Given the description of an element on the screen output the (x, y) to click on. 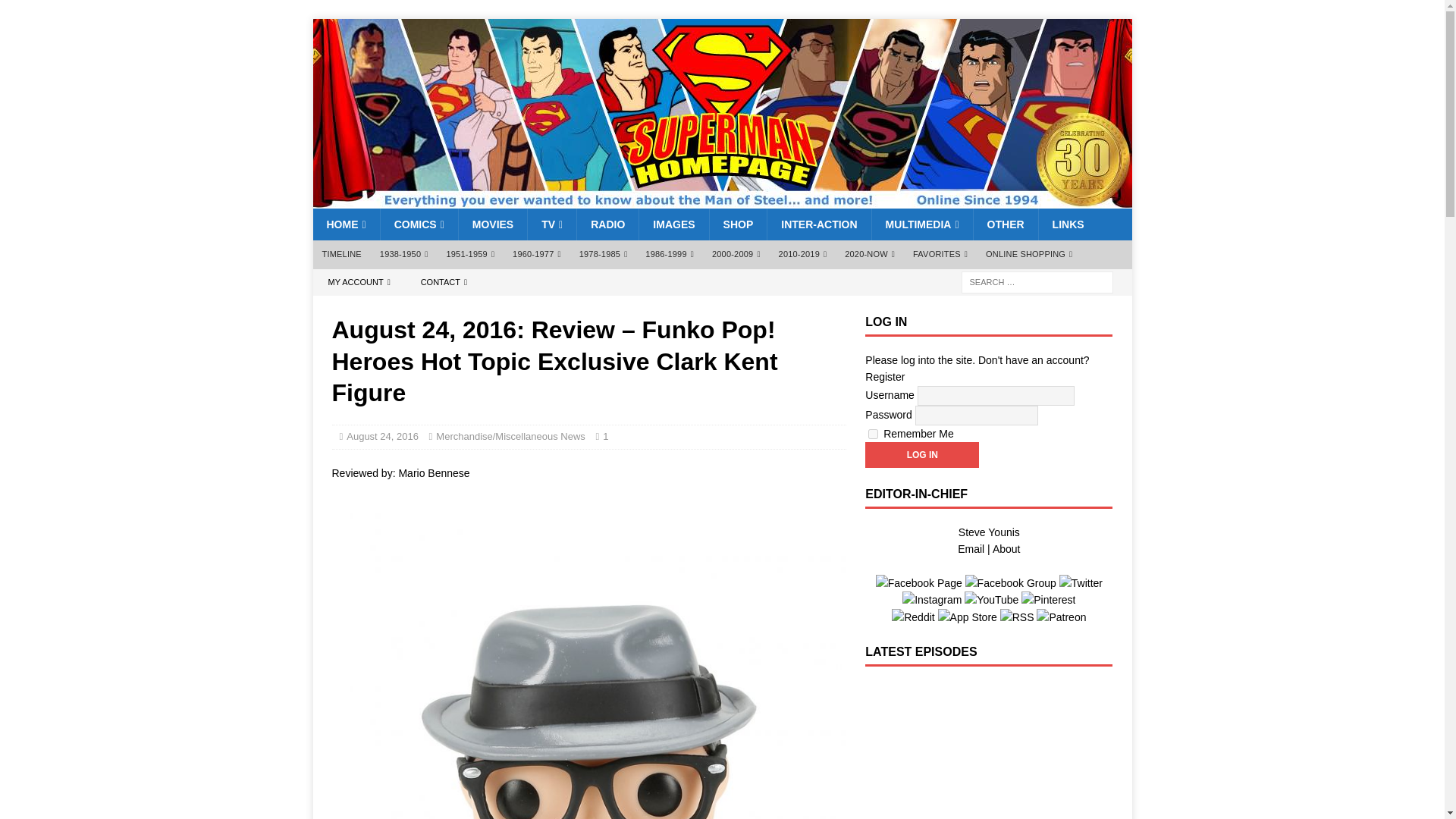
INTER-ACTION (818, 224)
TIMELINE (341, 254)
forever (872, 433)
Log In (921, 454)
SHOP (738, 224)
1986-1999 (669, 254)
HOME (345, 224)
MOVIES (492, 224)
IMAGES (673, 224)
OTHER (1005, 224)
